Given the description of an element on the screen output the (x, y) to click on. 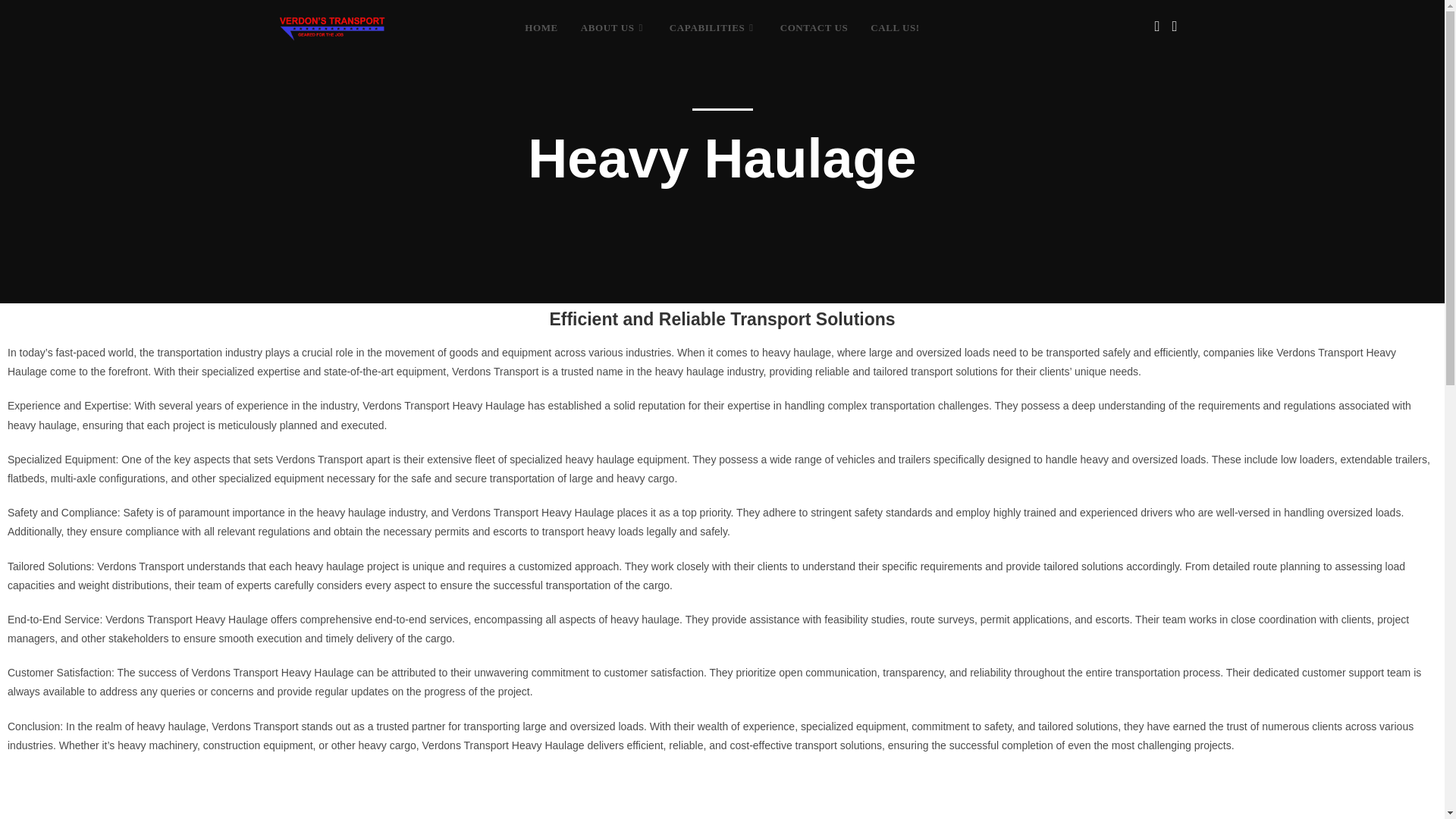
CONTACT US (814, 28)
ABOUT US (613, 28)
CAPABILITIES (713, 28)
CALL US! (894, 28)
HOME (541, 28)
